Given the description of an element on the screen output the (x, y) to click on. 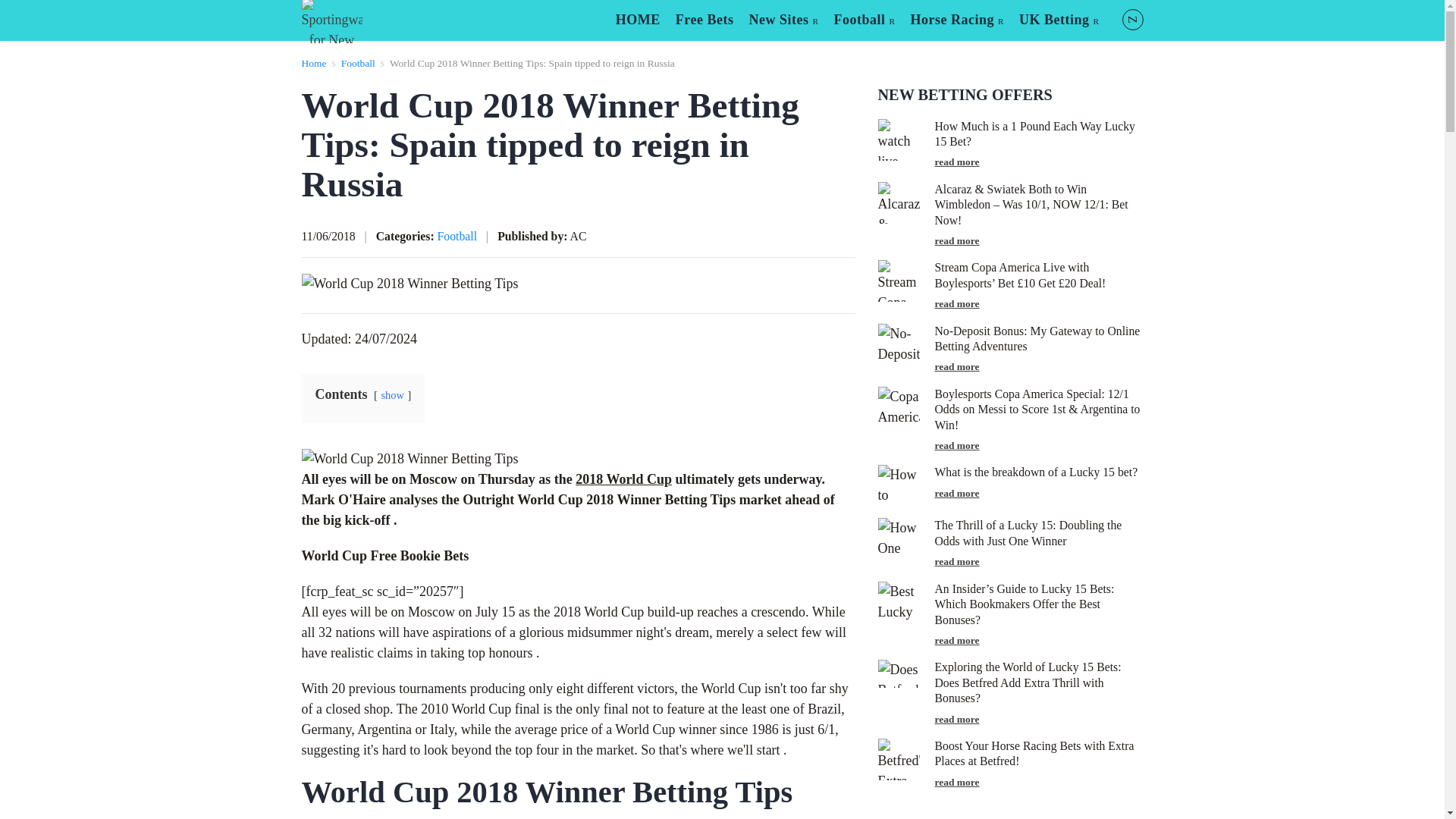
New UK Betting Sites List (783, 20)
Football Betting Sites and Free Bets (863, 20)
Football (863, 20)
Horse Racing (957, 20)
Top UK betting sites (1059, 20)
New Sites (783, 20)
UK Betting (1059, 20)
Free Bets (704, 19)
HOME (638, 19)
